Given the description of an element on the screen output the (x, y) to click on. 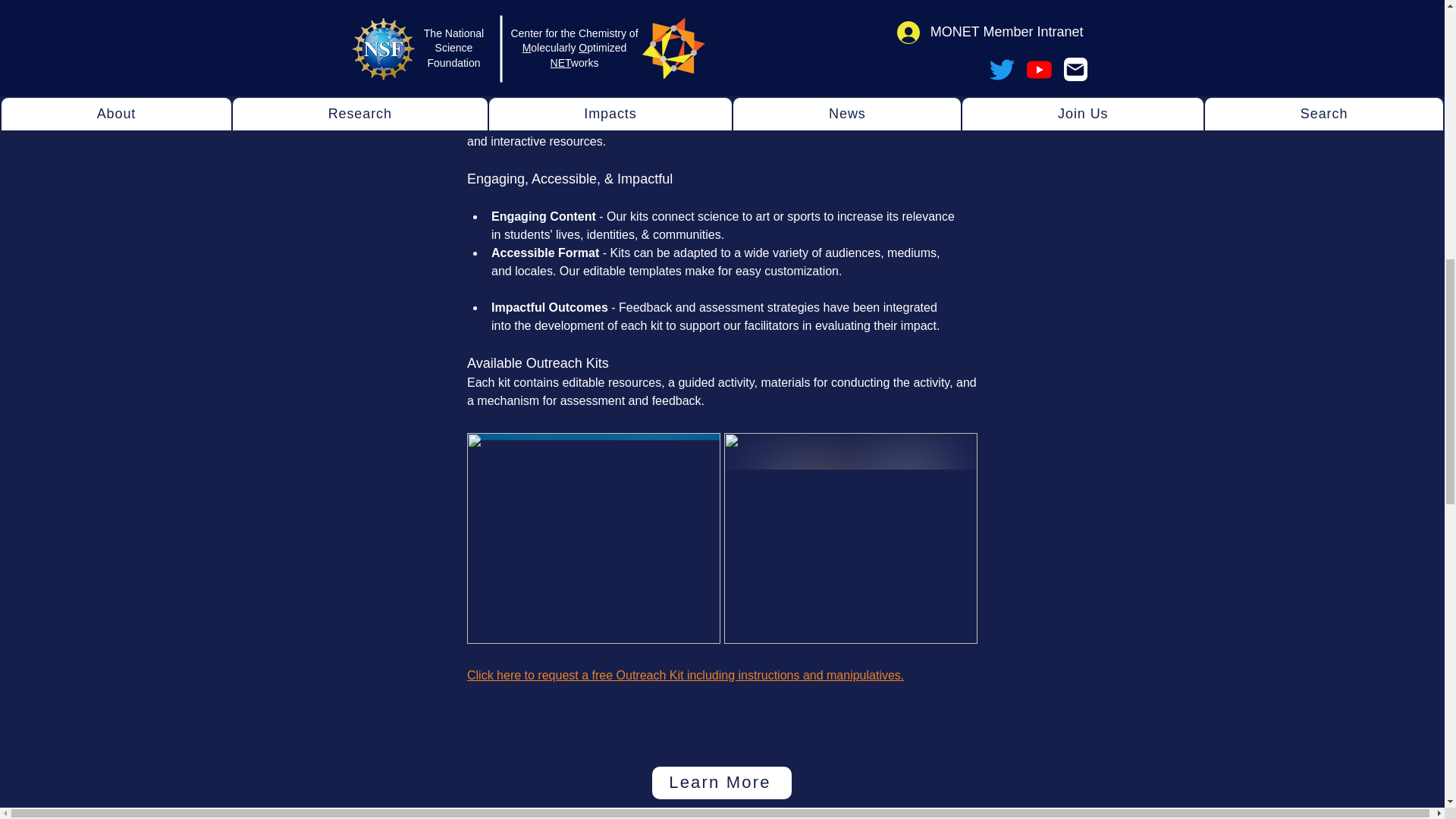
MONET's Outreach Kit Program (721, 9)
Learn More (722, 782)
